Given the description of an element on the screen output the (x, y) to click on. 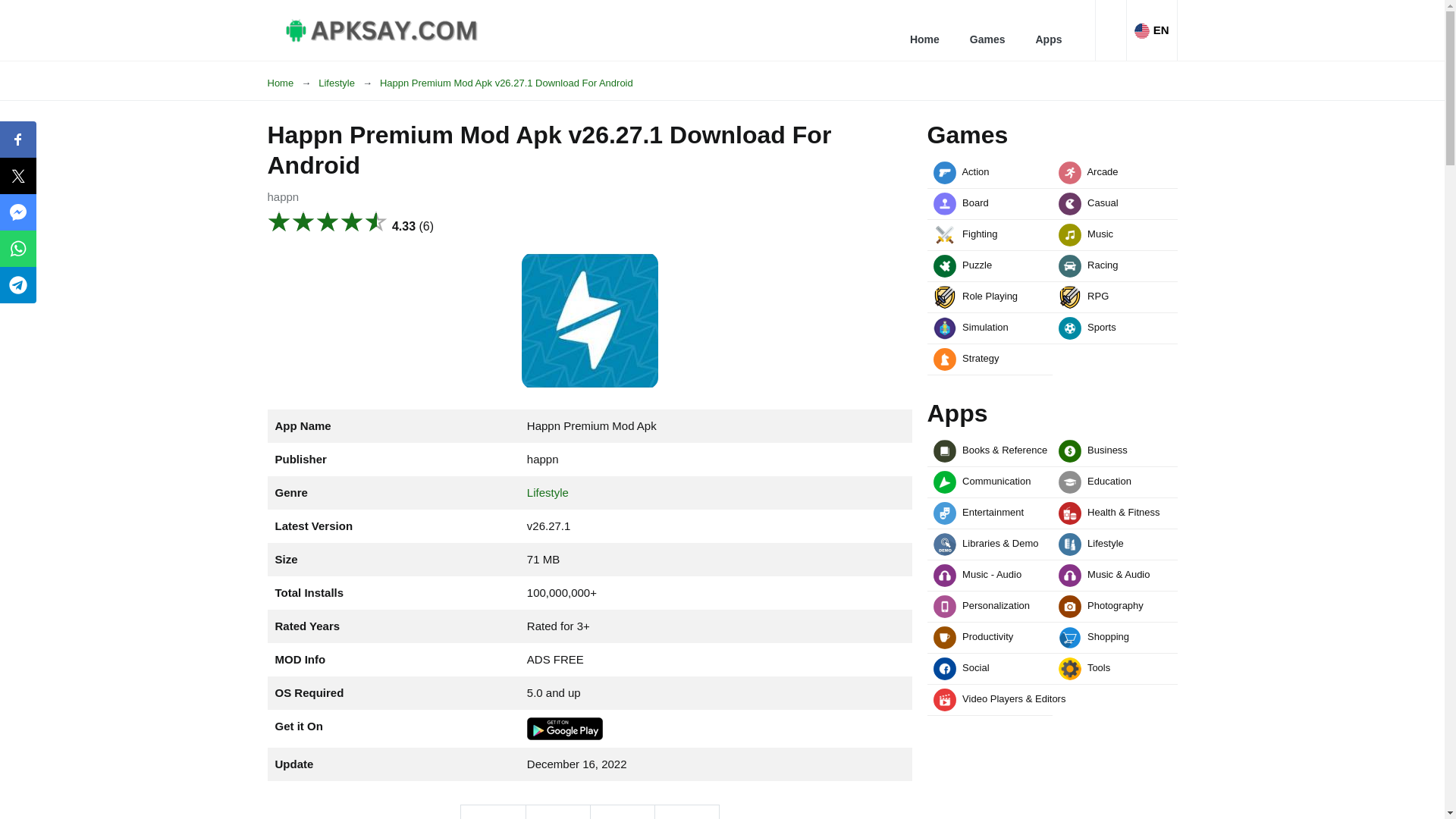
Happn Premium Mod Apk v26.27.1 Download For Android (506, 83)
Games (987, 30)
Apps (1048, 30)
Share on Telegram (621, 812)
Tweet this (556, 812)
Lifestyle (548, 492)
Lifestyle (349, 83)
Share on Whatsapp (685, 812)
Home (925, 30)
Home (292, 83)
Share on Facebook (493, 812)
